Given the description of an element on the screen output the (x, y) to click on. 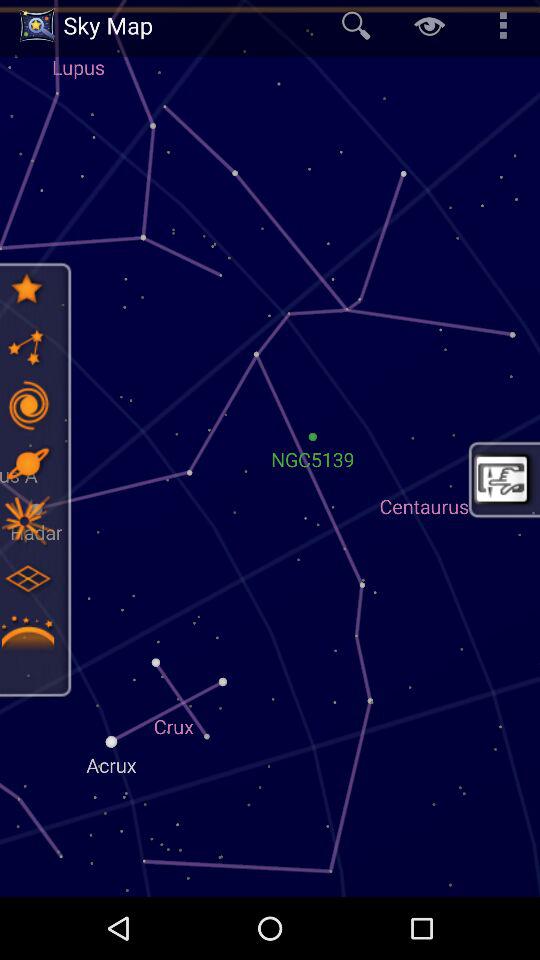
share option (27, 347)
